Given the description of an element on the screen output the (x, y) to click on. 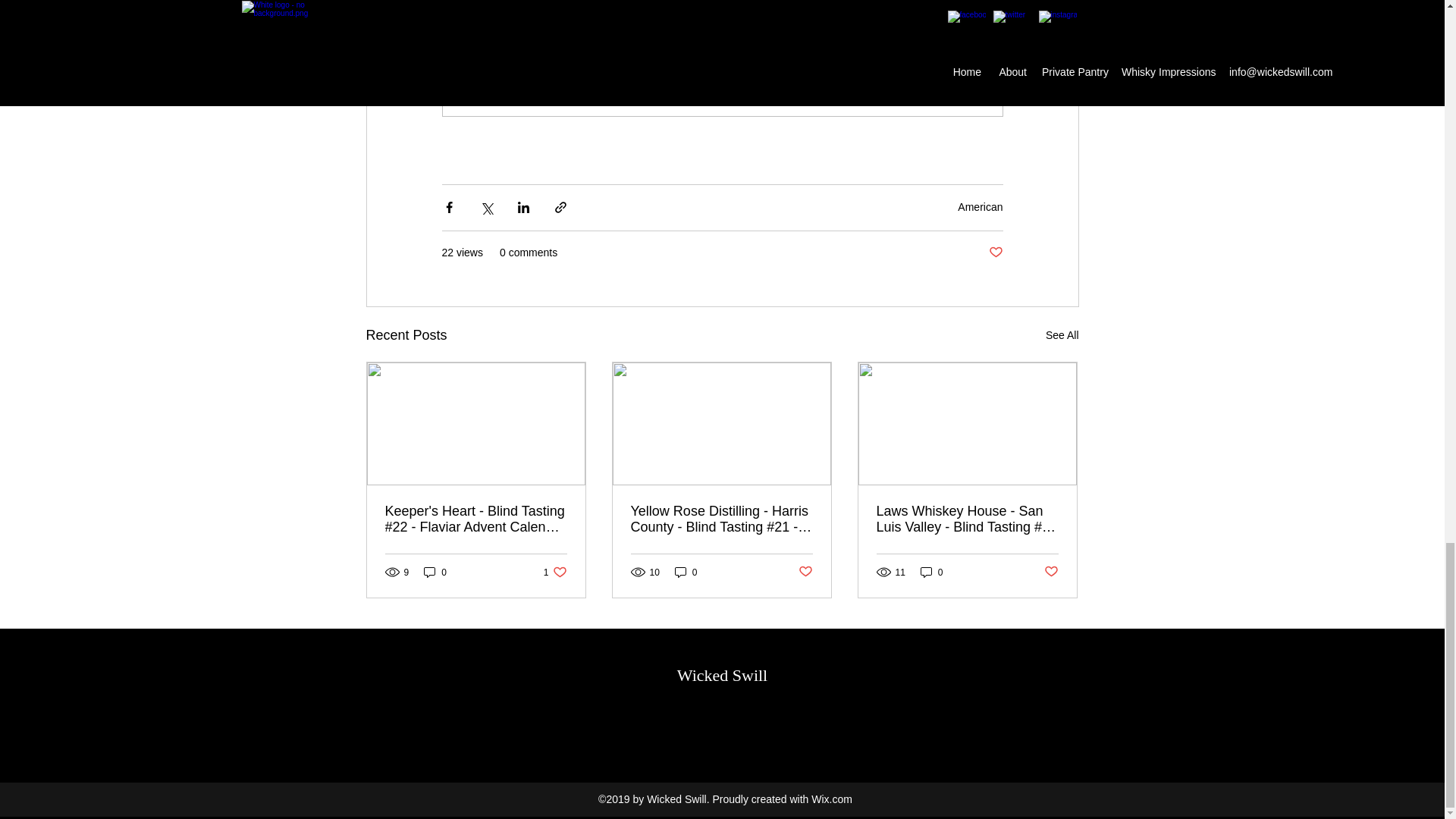
Post not marked as liked (995, 252)
Post not marked as liked (1050, 571)
0 (931, 572)
Post not marked as liked (555, 572)
0 (804, 571)
See All (435, 572)
American (1061, 335)
0 (980, 206)
